Given the description of an element on the screen output the (x, y) to click on. 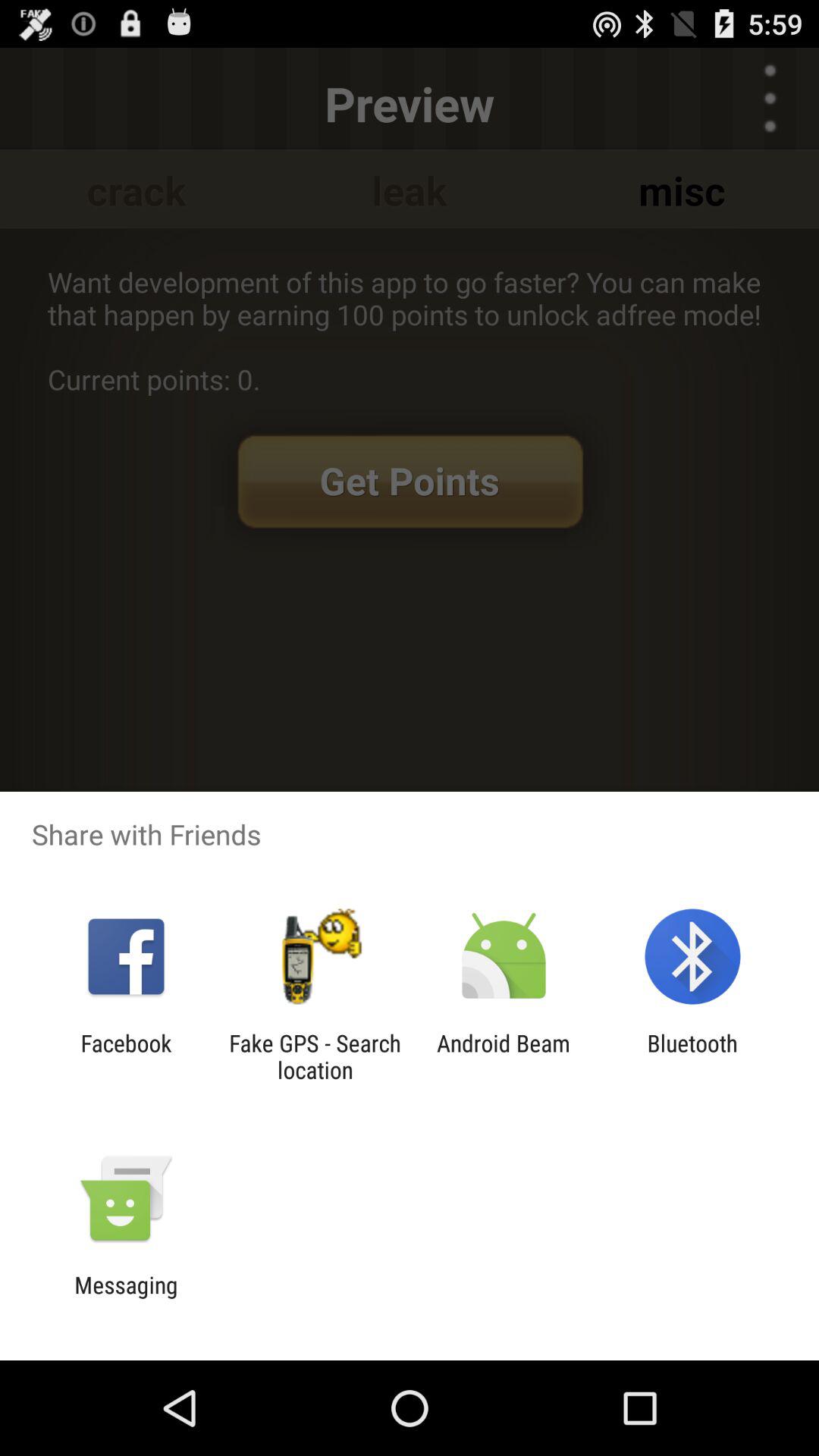
scroll to the fake gps search app (314, 1056)
